Given the description of an element on the screen output the (x, y) to click on. 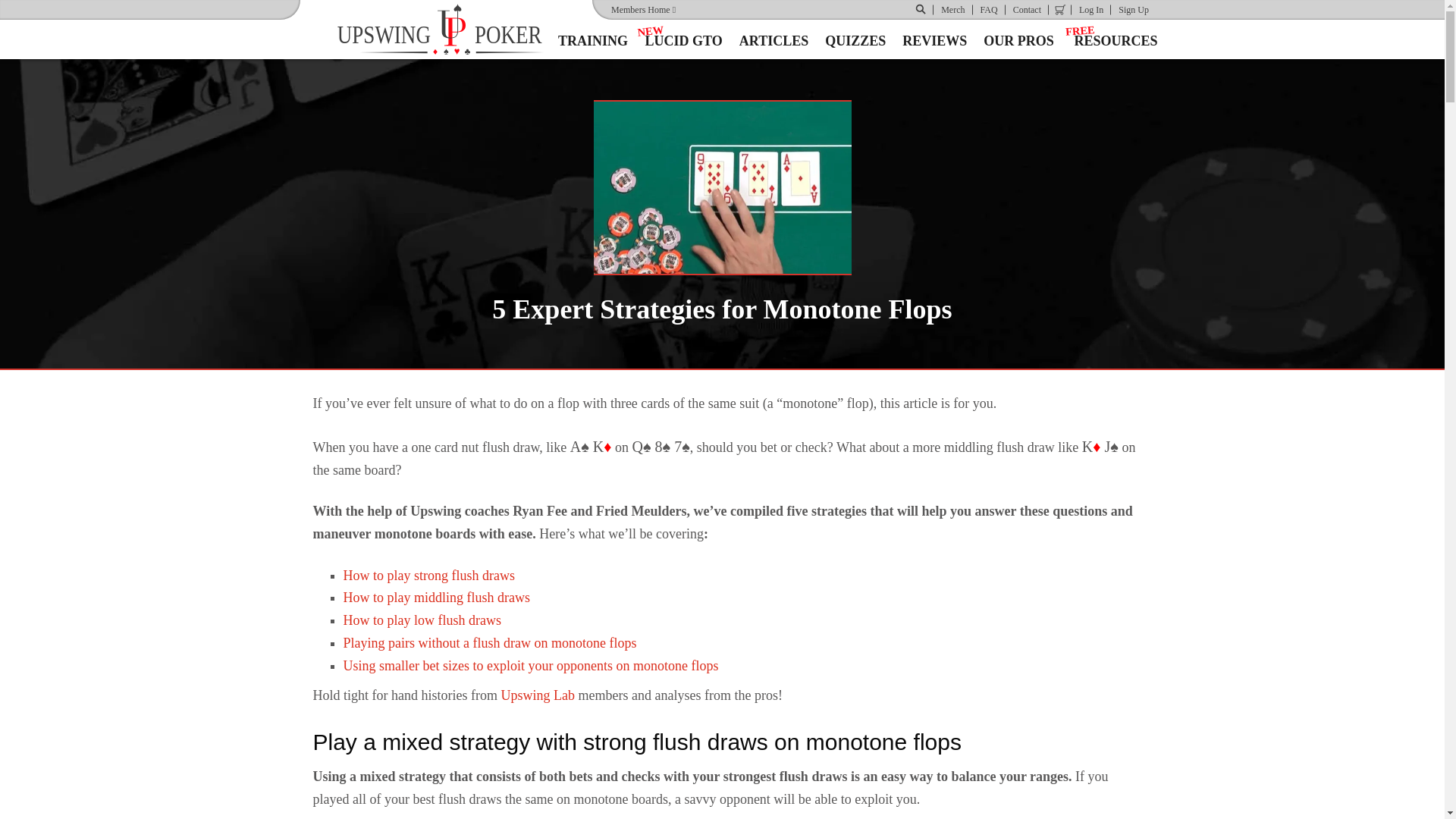
Sign Up (1133, 9)
Contact (451, 29)
FAQ (1027, 9)
Contact Us (989, 9)
Log In (1027, 9)
Log In (1090, 9)
Shopping Cart (1090, 9)
Merch (1059, 9)
Frequently Asked Questions (952, 9)
Sign Up (989, 9)
Merch Store (1133, 9)
Members Home (952, 9)
Search (643, 9)
Members Home (920, 9)
